Given the description of an element on the screen output the (x, y) to click on. 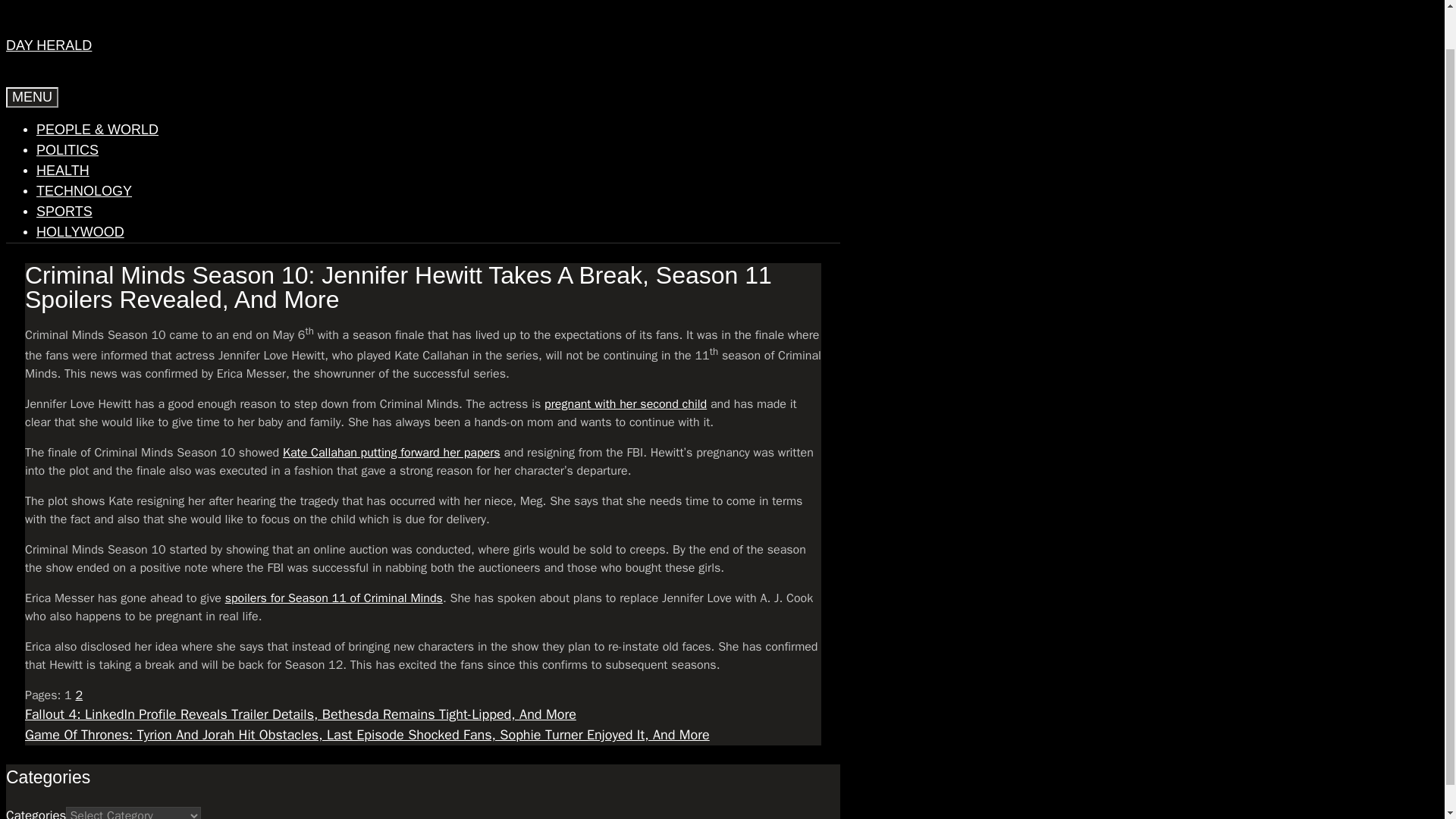
MENU (31, 96)
DAY HERALD (48, 45)
SPORTS (64, 211)
pregnant with her second child (625, 403)
TECHNOLOGY (84, 191)
Day Herald (54, 1)
HEALTH (62, 170)
2 (78, 694)
spoilers for Season 11 of Criminal Minds (333, 598)
HOLLYWOOD (79, 231)
Kate Callahan putting forward her papers (391, 452)
POLITICS (67, 150)
